Given the description of an element on the screen output the (x, y) to click on. 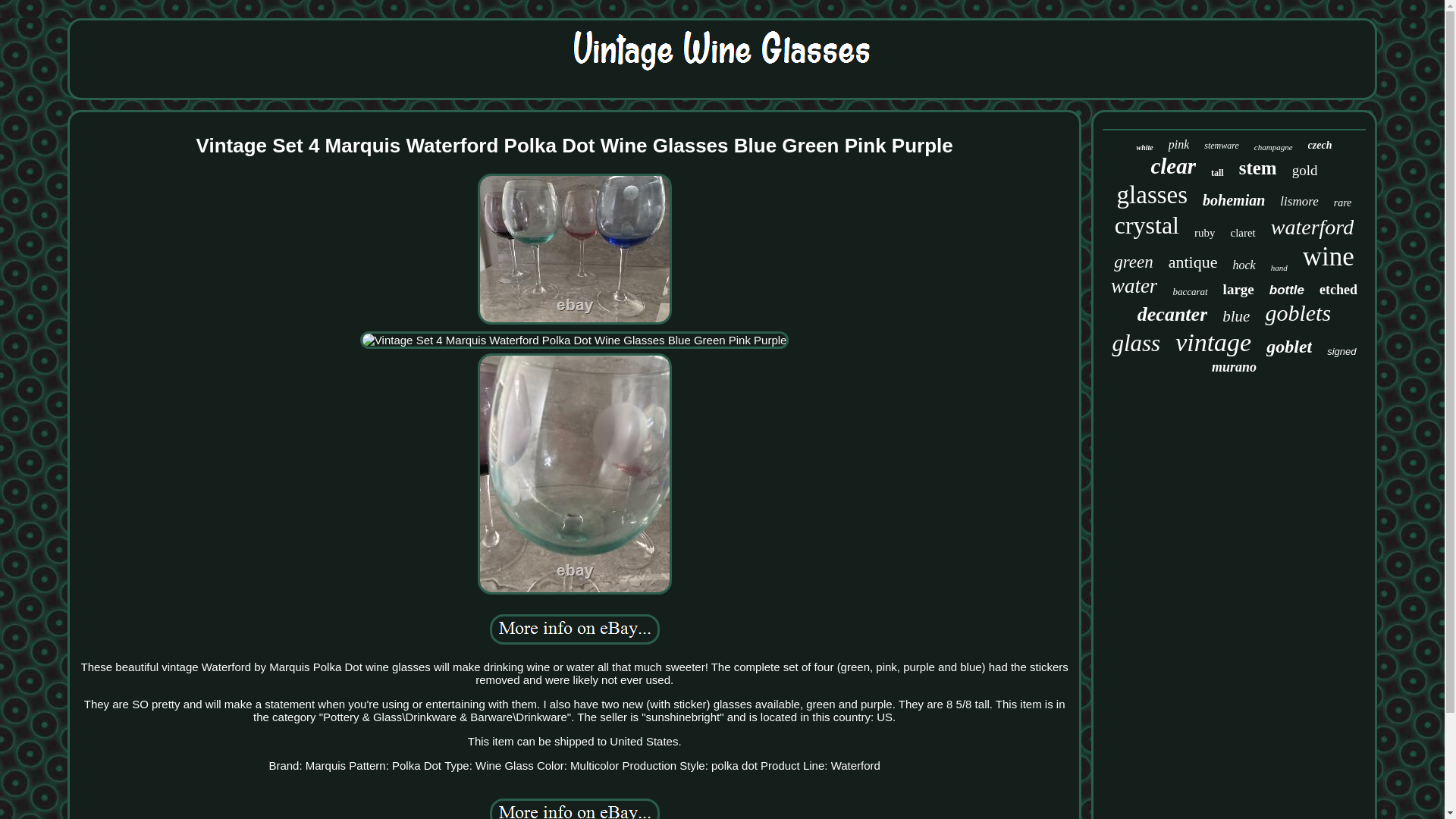
wine (1328, 256)
stemware (1221, 145)
ruby (1204, 232)
crystal (1147, 225)
water (1133, 286)
pink (1179, 144)
clear (1172, 166)
gold (1304, 170)
waterford (1312, 227)
bottle (1286, 290)
claret (1242, 232)
antique (1193, 261)
tall (1217, 173)
glasses (1152, 194)
